Given the description of an element on the screen output the (x, y) to click on. 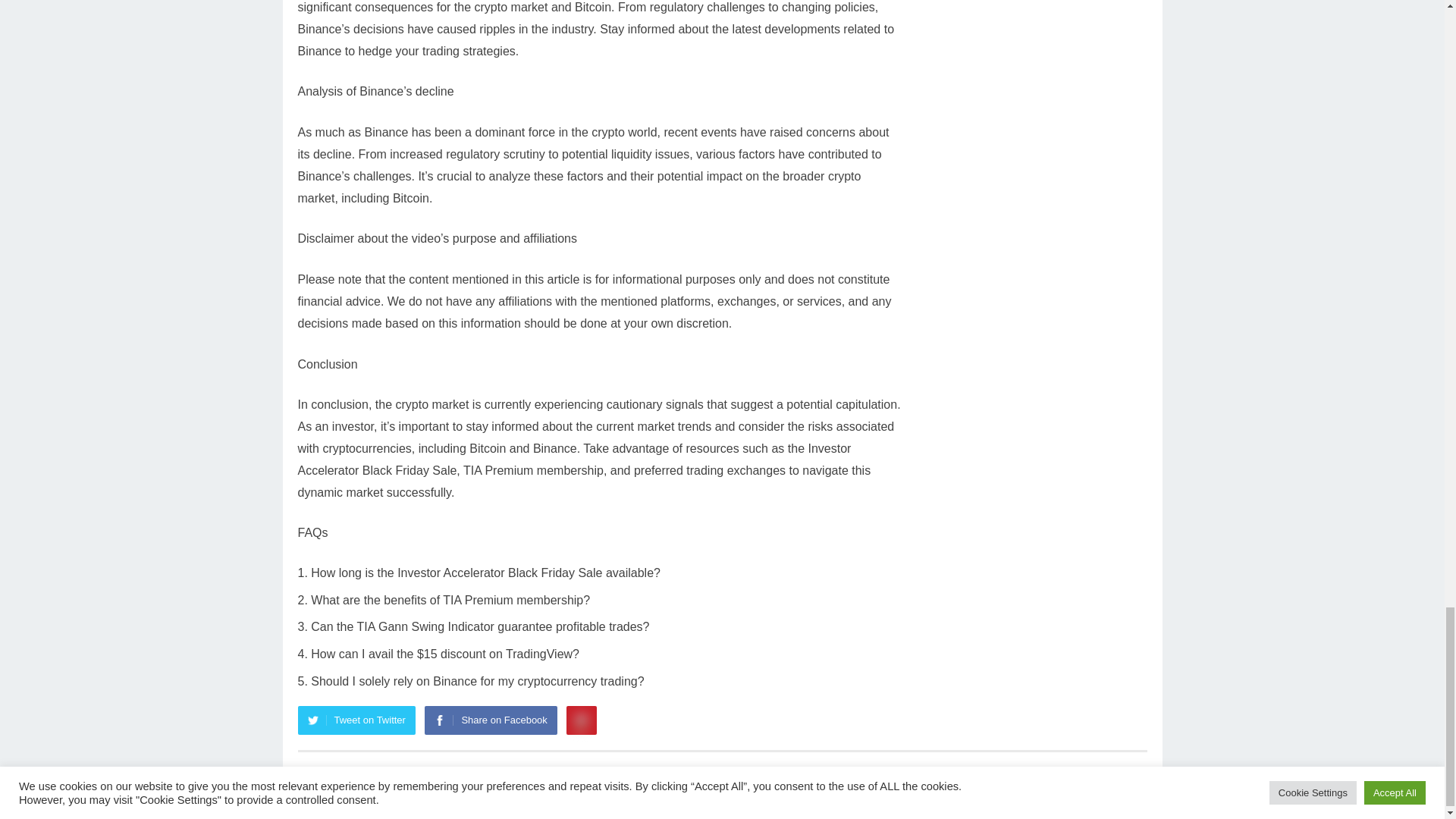
Tweet on Twitter (355, 719)
Pinterest (581, 719)
Share on Facebook (490, 719)
